Given the description of an element on the screen output the (x, y) to click on. 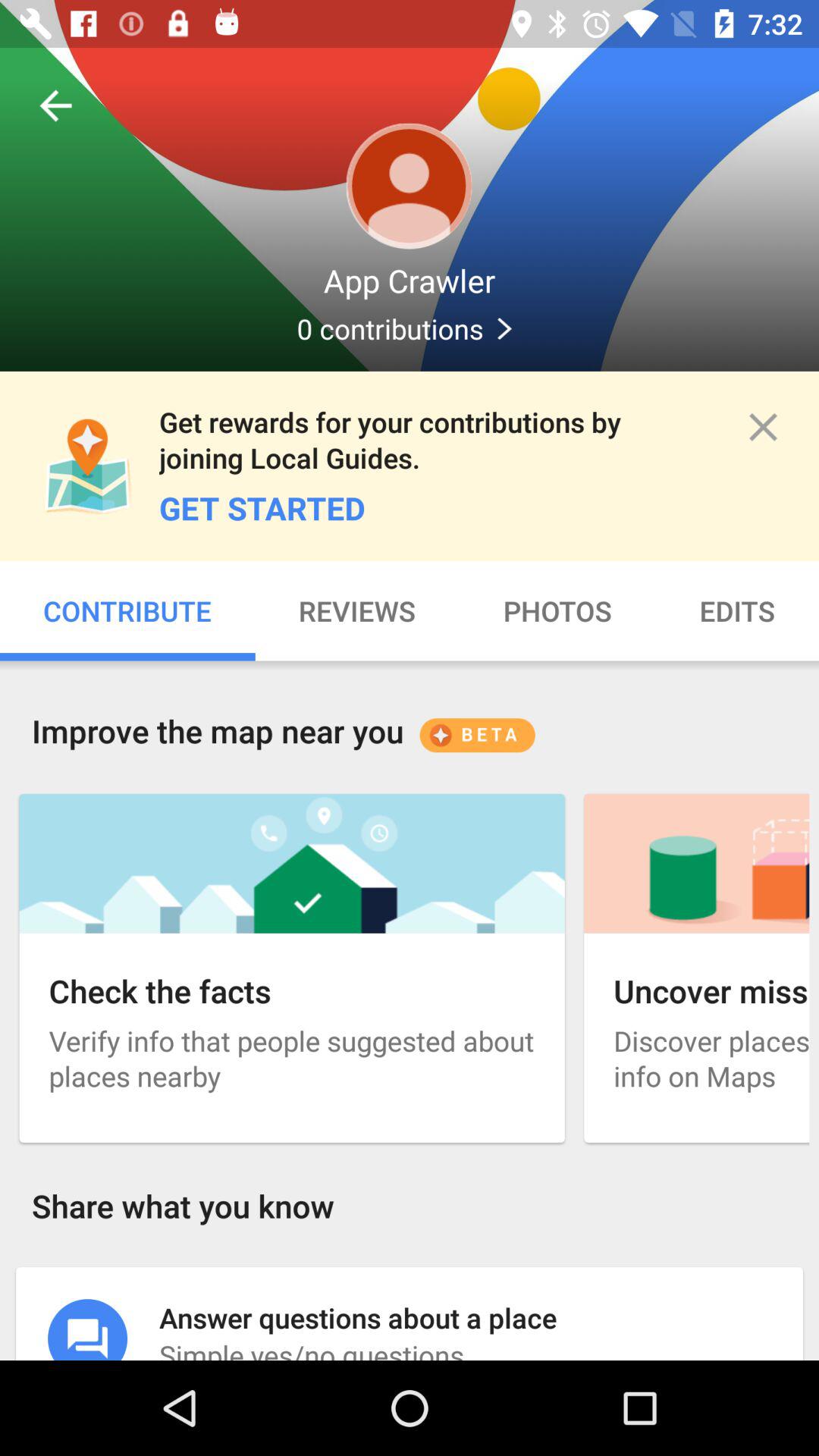
scroll to the photos (557, 610)
